Given the description of an element on the screen output the (x, y) to click on. 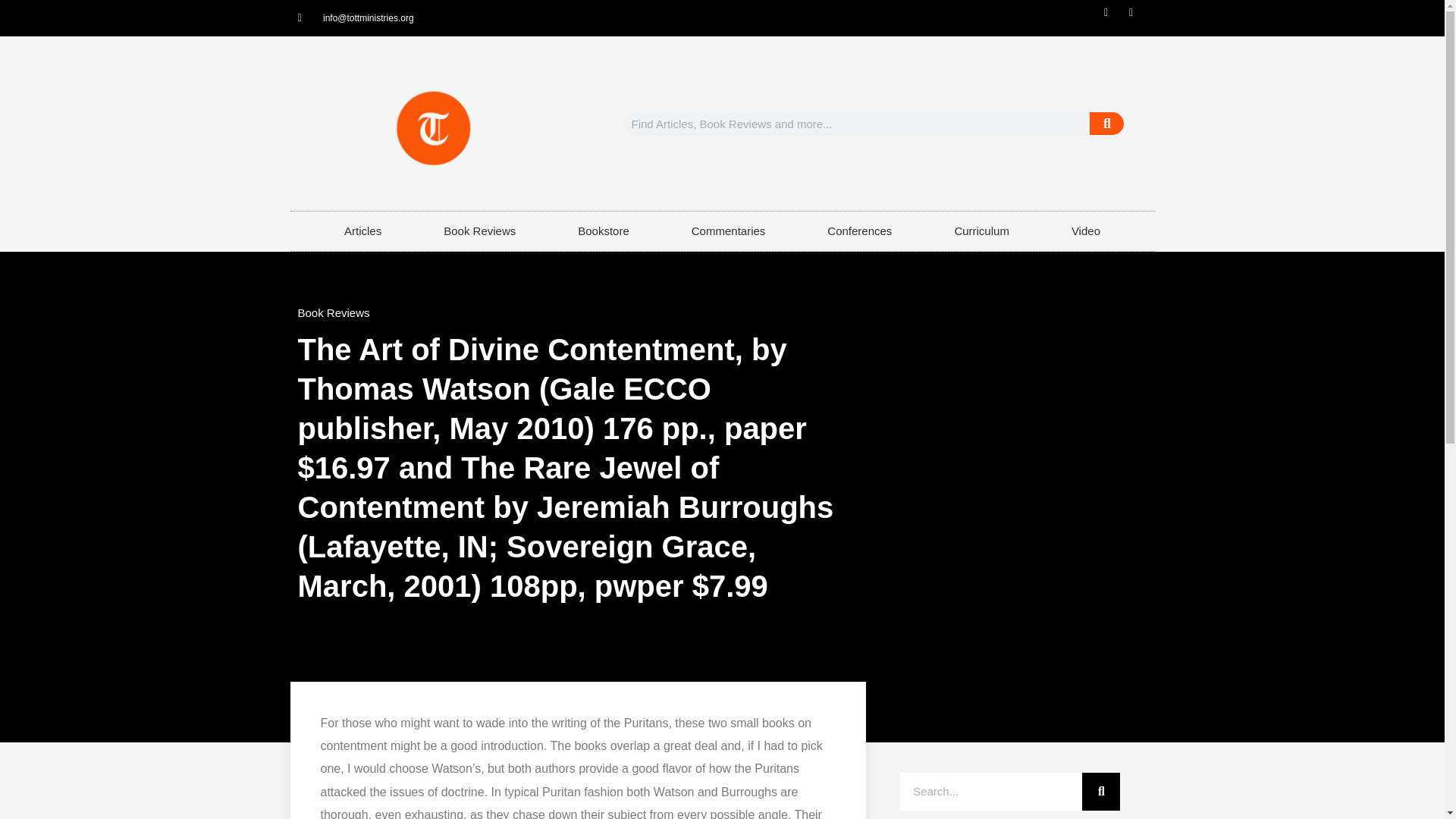
Curriculum (982, 230)
Bookstore (604, 230)
Commentaries (728, 230)
Conferences (859, 230)
Video (1086, 230)
Book Reviews (479, 230)
Articles (362, 230)
Book Reviews (333, 312)
